Given the description of an element on the screen output the (x, y) to click on. 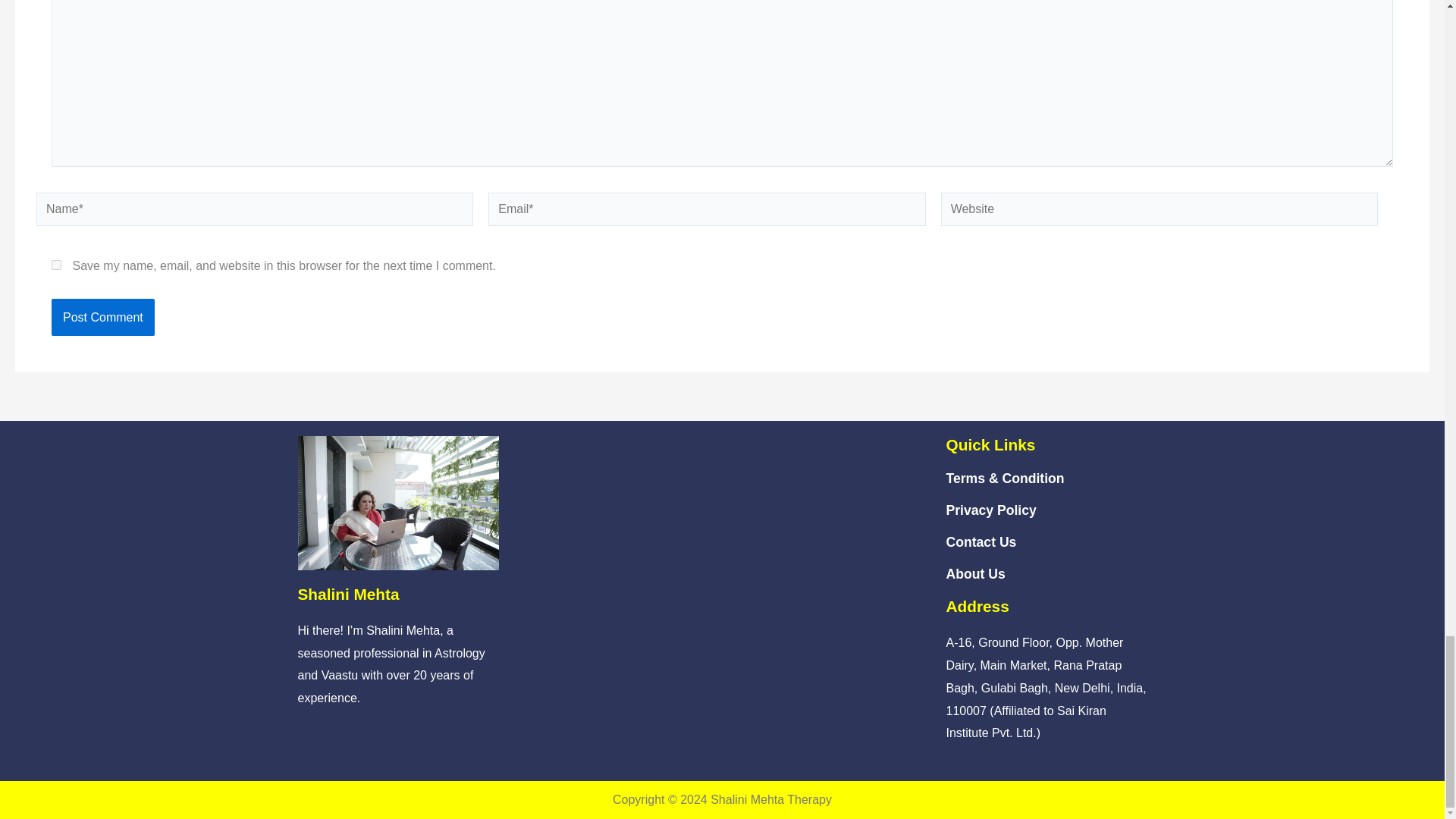
yes (55, 265)
Post Comment (102, 317)
Gulmohar park (722, 549)
